Given the description of an element on the screen output the (x, y) to click on. 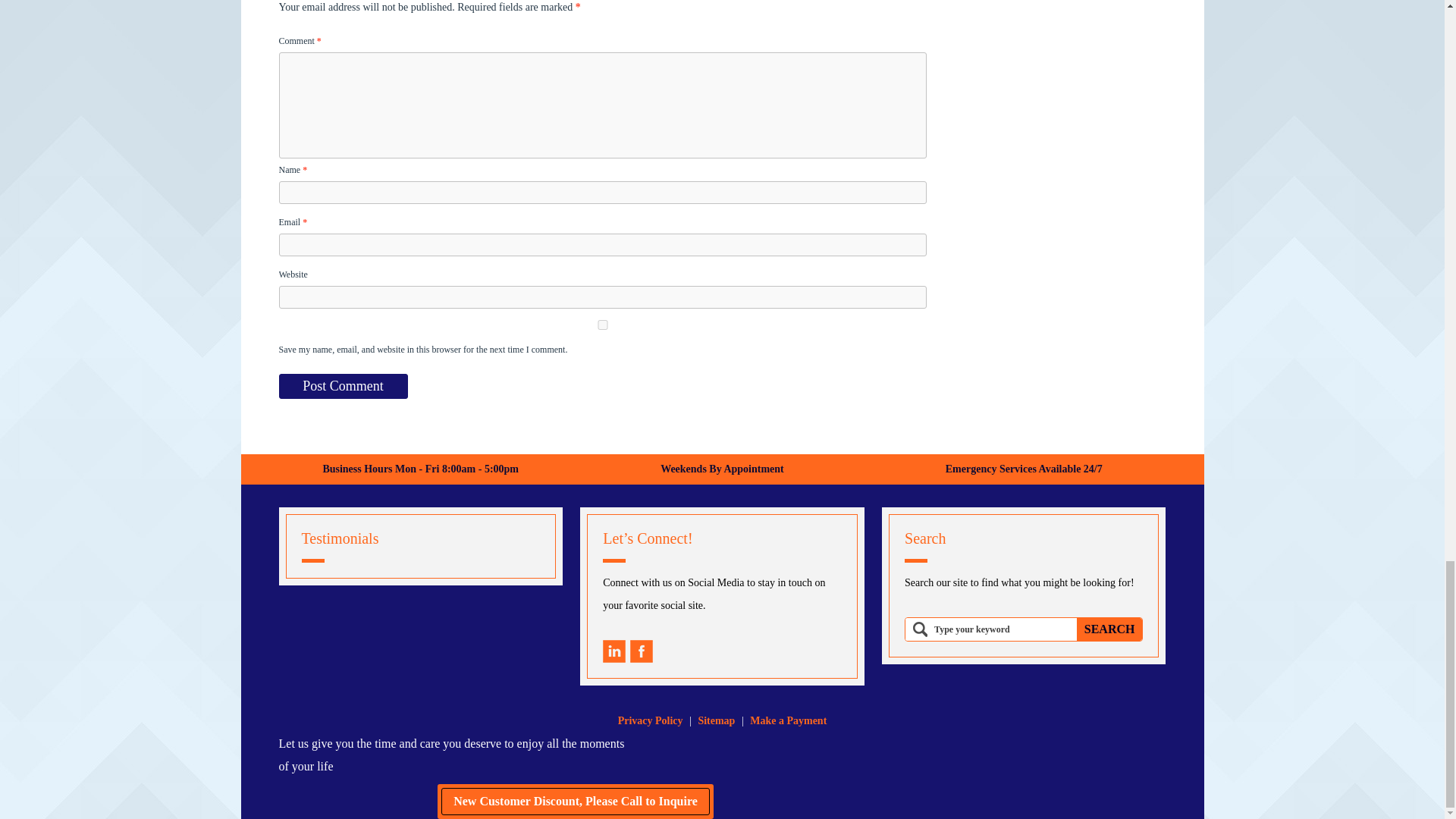
Facebook (641, 650)
yes (602, 325)
Post Comment (343, 385)
Post Comment (343, 385)
Search (1109, 629)
Linkedin (614, 650)
